Given the description of an element on the screen output the (x, y) to click on. 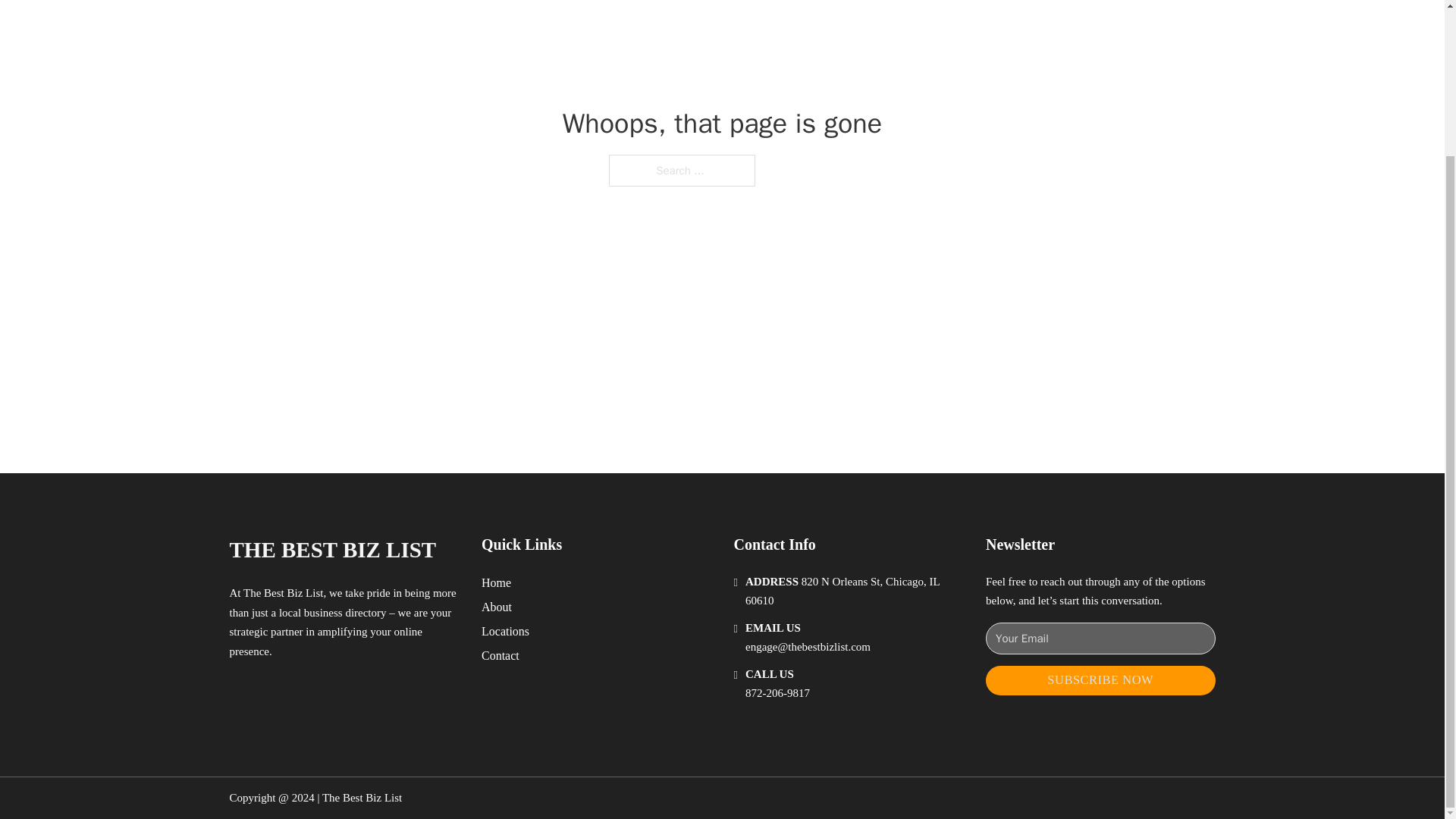
About (496, 607)
Home (496, 582)
Contact (500, 655)
THE BEST BIZ LIST (331, 549)
SUBSCRIBE NOW (1100, 680)
872-206-9817 (777, 693)
Locations (505, 630)
